Given the description of an element on the screen output the (x, y) to click on. 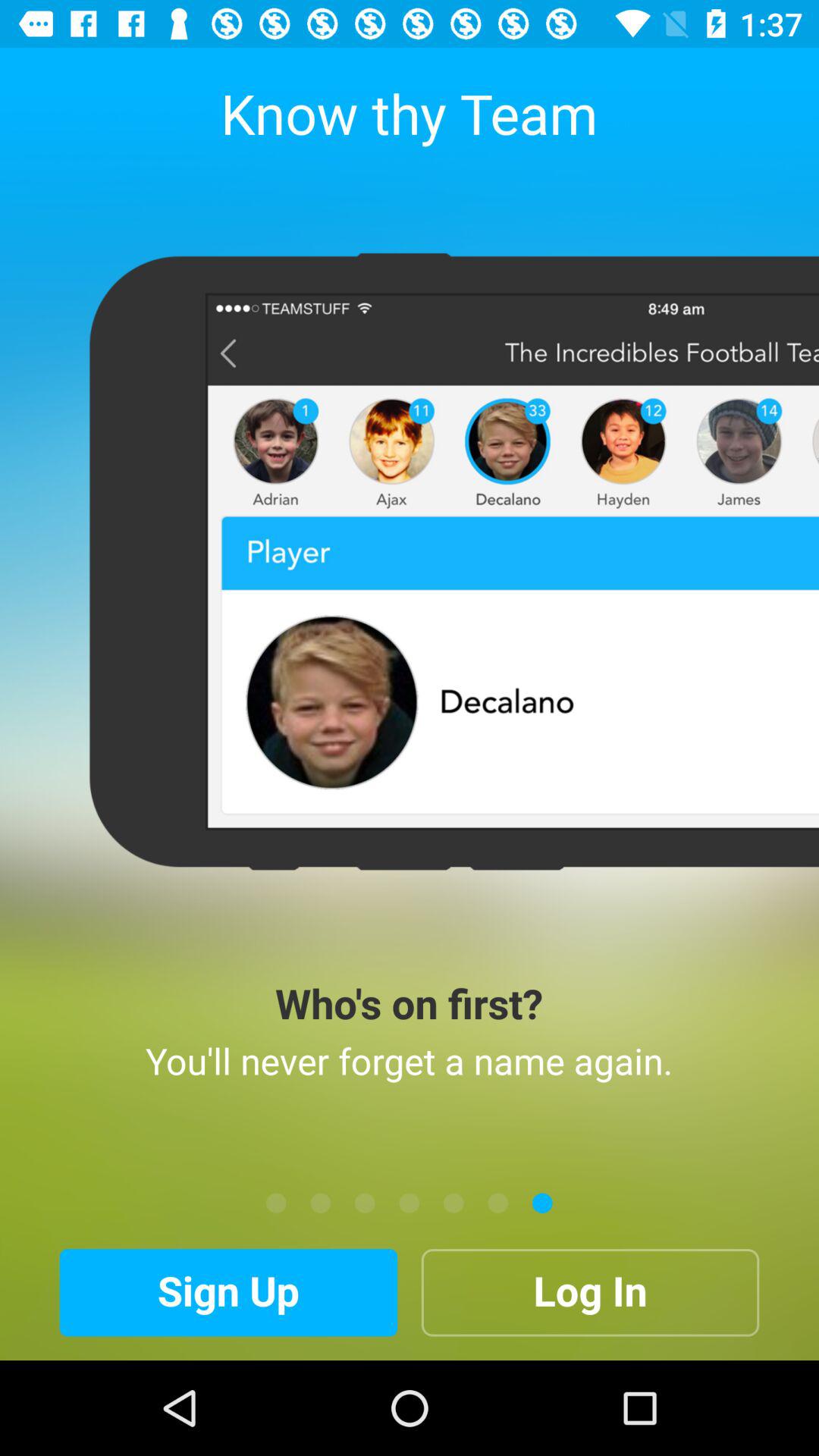
switch tabs (364, 1203)
